Given the description of an element on the screen output the (x, y) to click on. 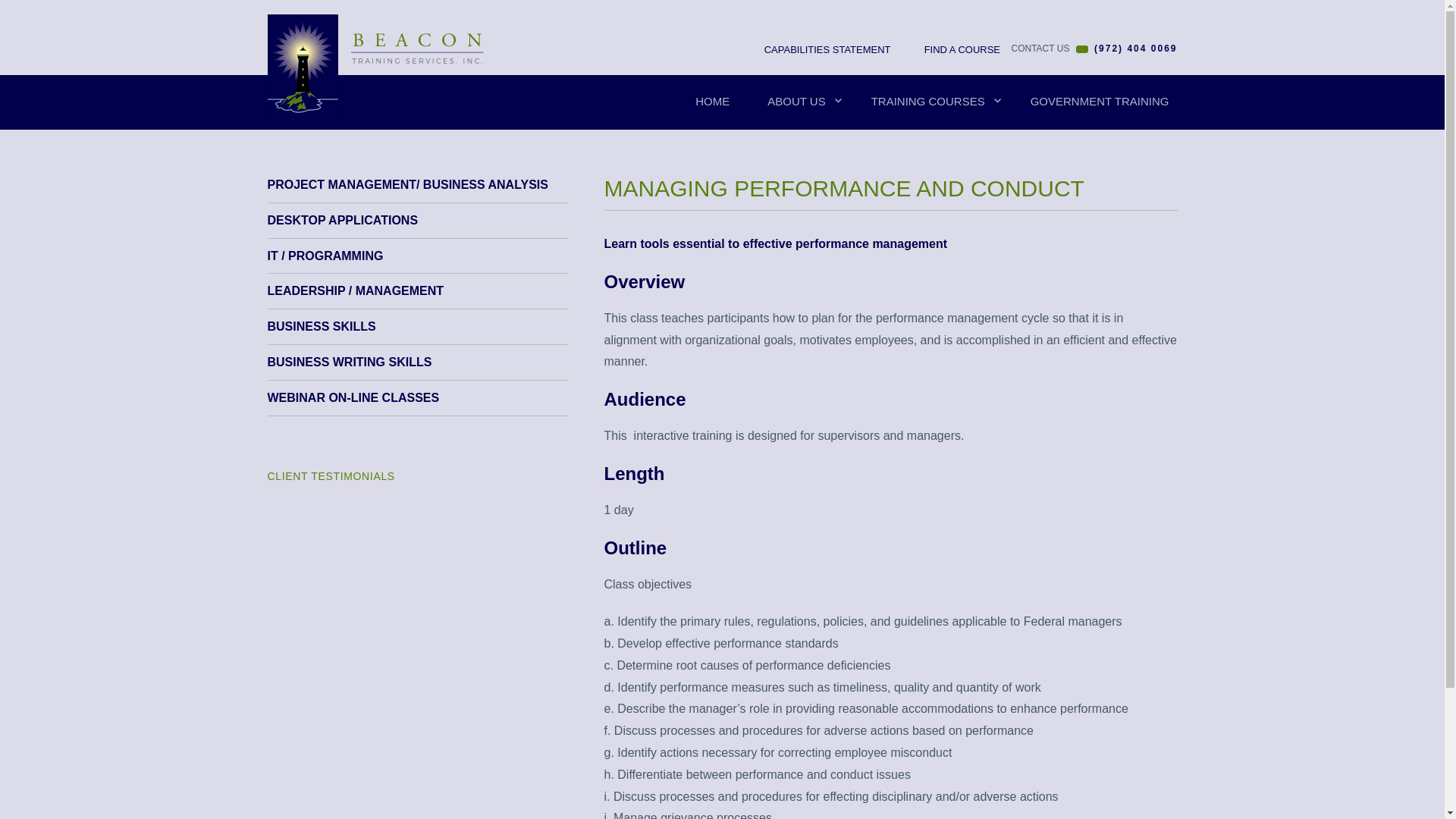
GOVERNMENT TRAINING (1099, 102)
CONTACT US (1040, 48)
FIND A COURSE (954, 49)
ABOUT US (798, 102)
TRAINING COURSES (931, 102)
CAPABILITIES STATEMENT (819, 49)
